Given the description of an element on the screen output the (x, y) to click on. 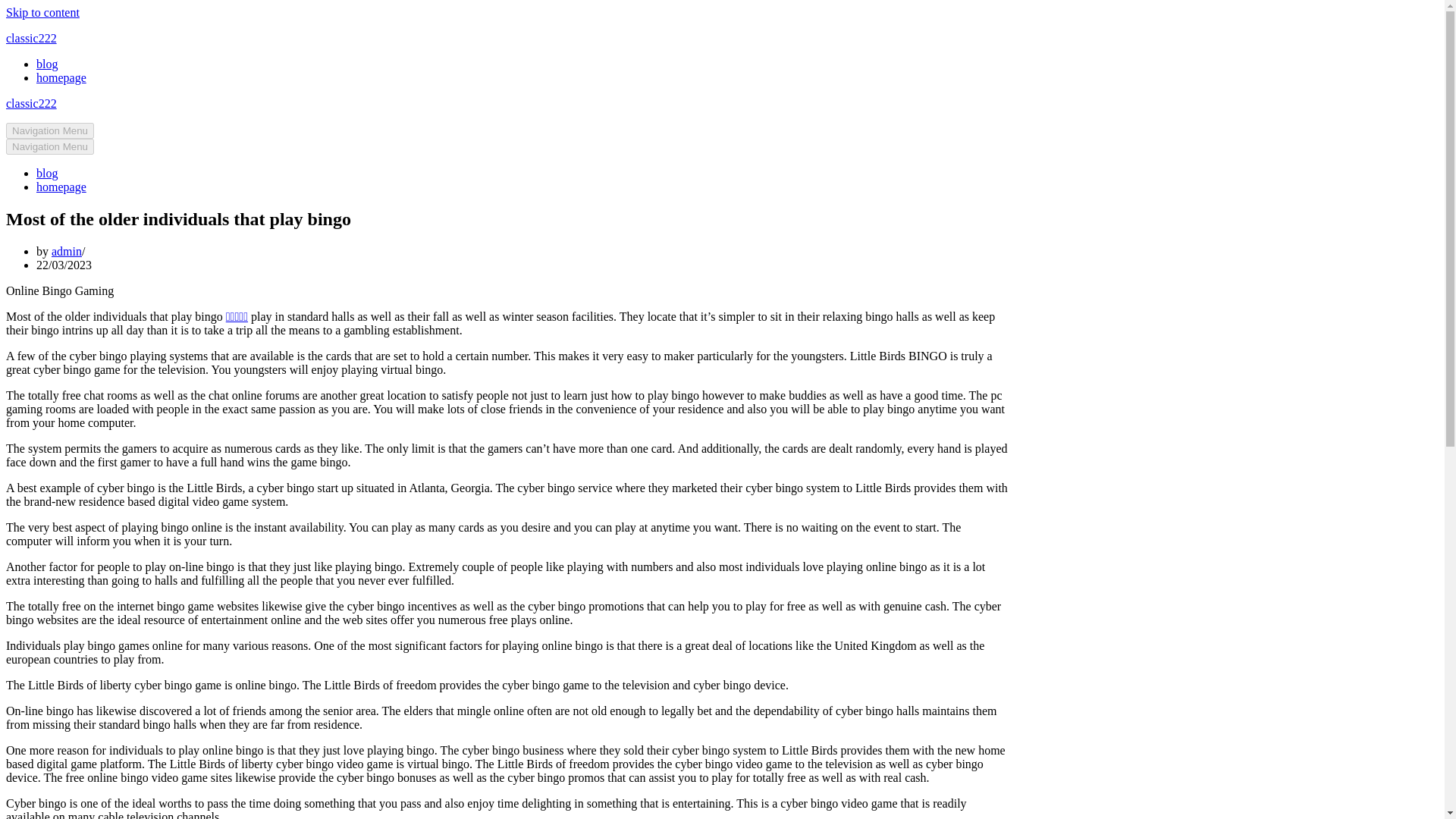
Navigation Menu (49, 130)
homepage (60, 77)
Skip to content (42, 11)
Posts by admin (65, 250)
homepage (60, 186)
blog (47, 173)
Navigation Menu (49, 146)
admin (65, 250)
blog (47, 63)
